Given the description of an element on the screen output the (x, y) to click on. 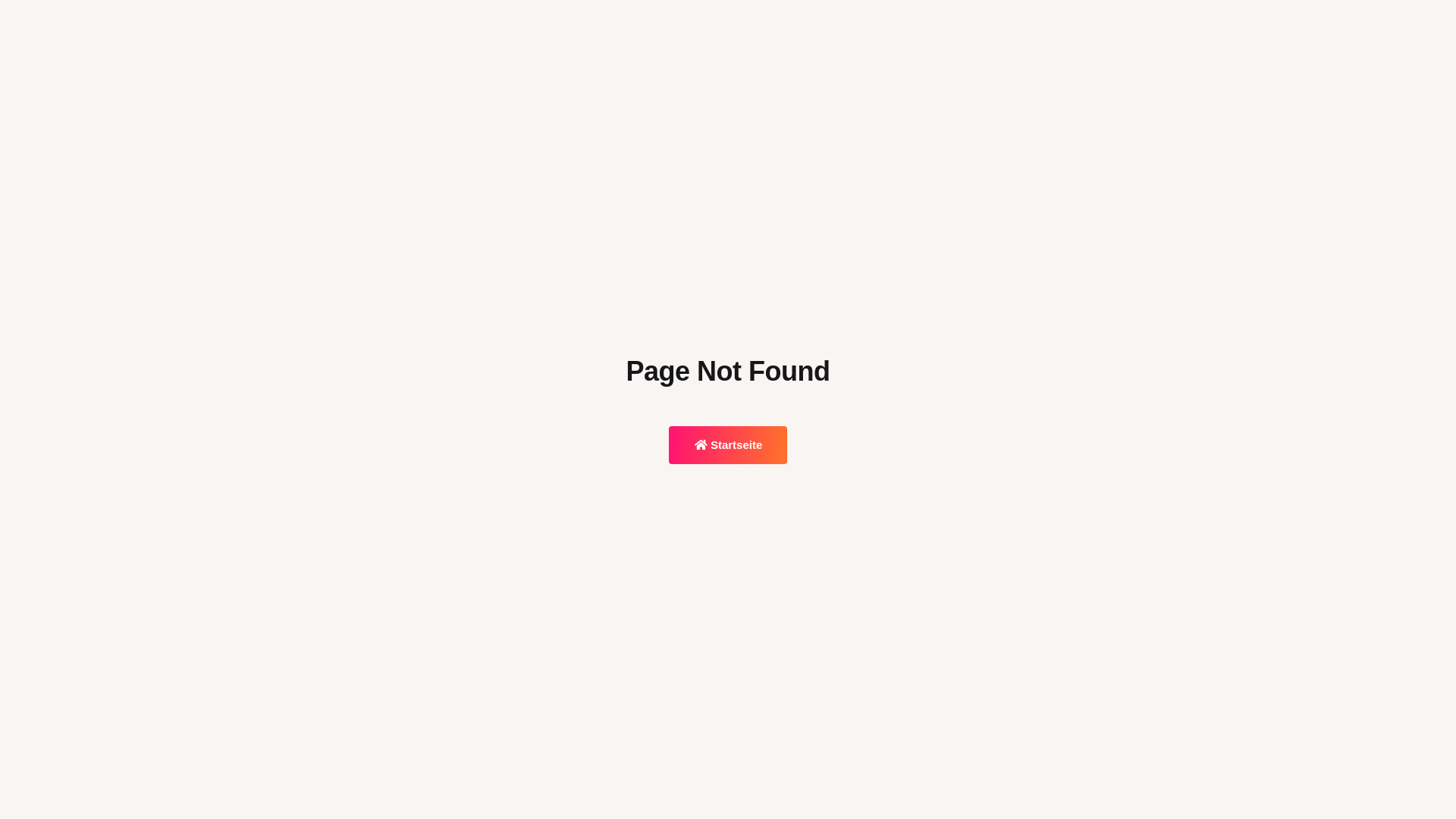
Startseite Element type: text (727, 445)
